Given the description of an element on the screen output the (x, y) to click on. 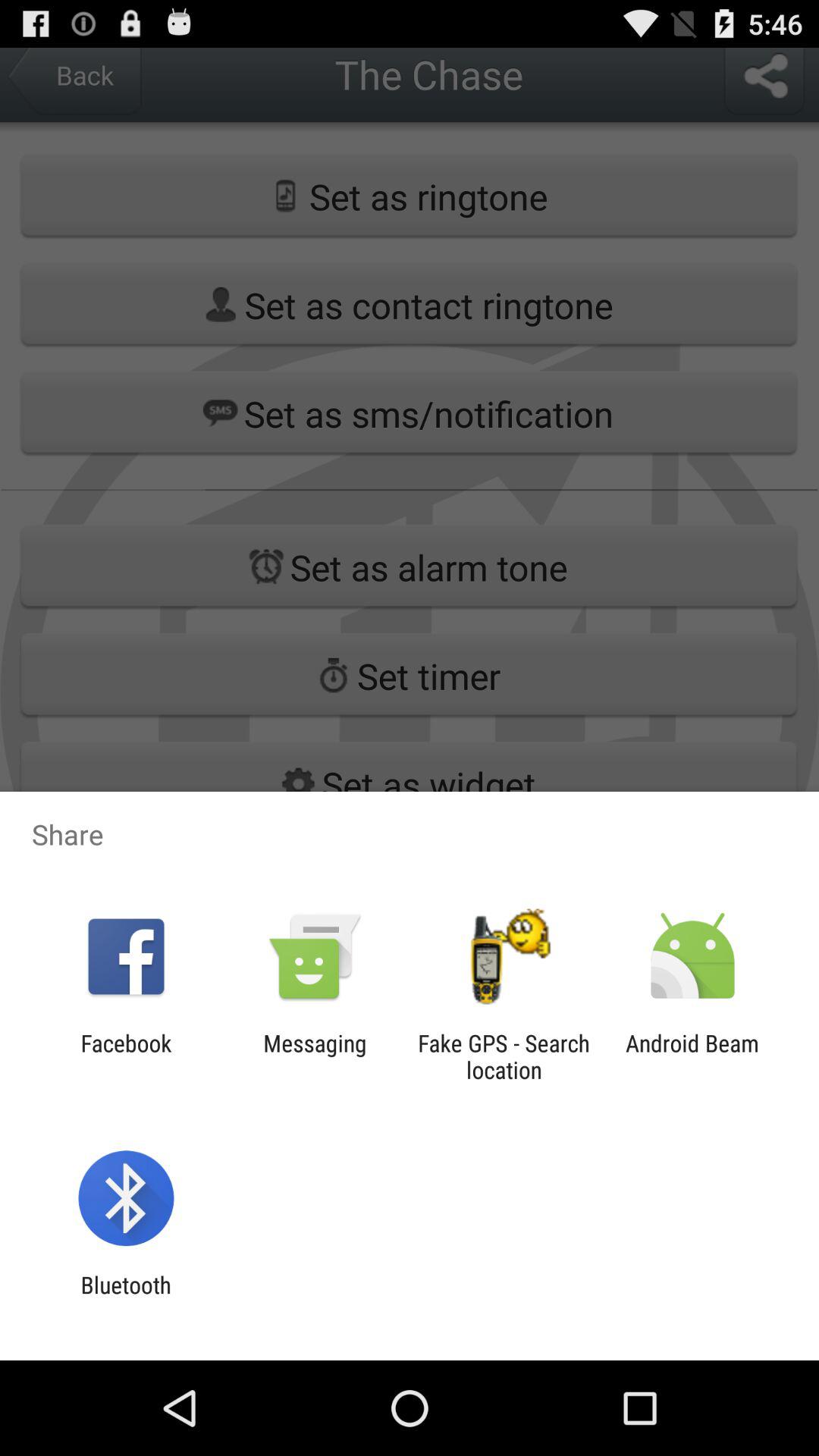
press the facebook app (125, 1056)
